Given the description of an element on the screen output the (x, y) to click on. 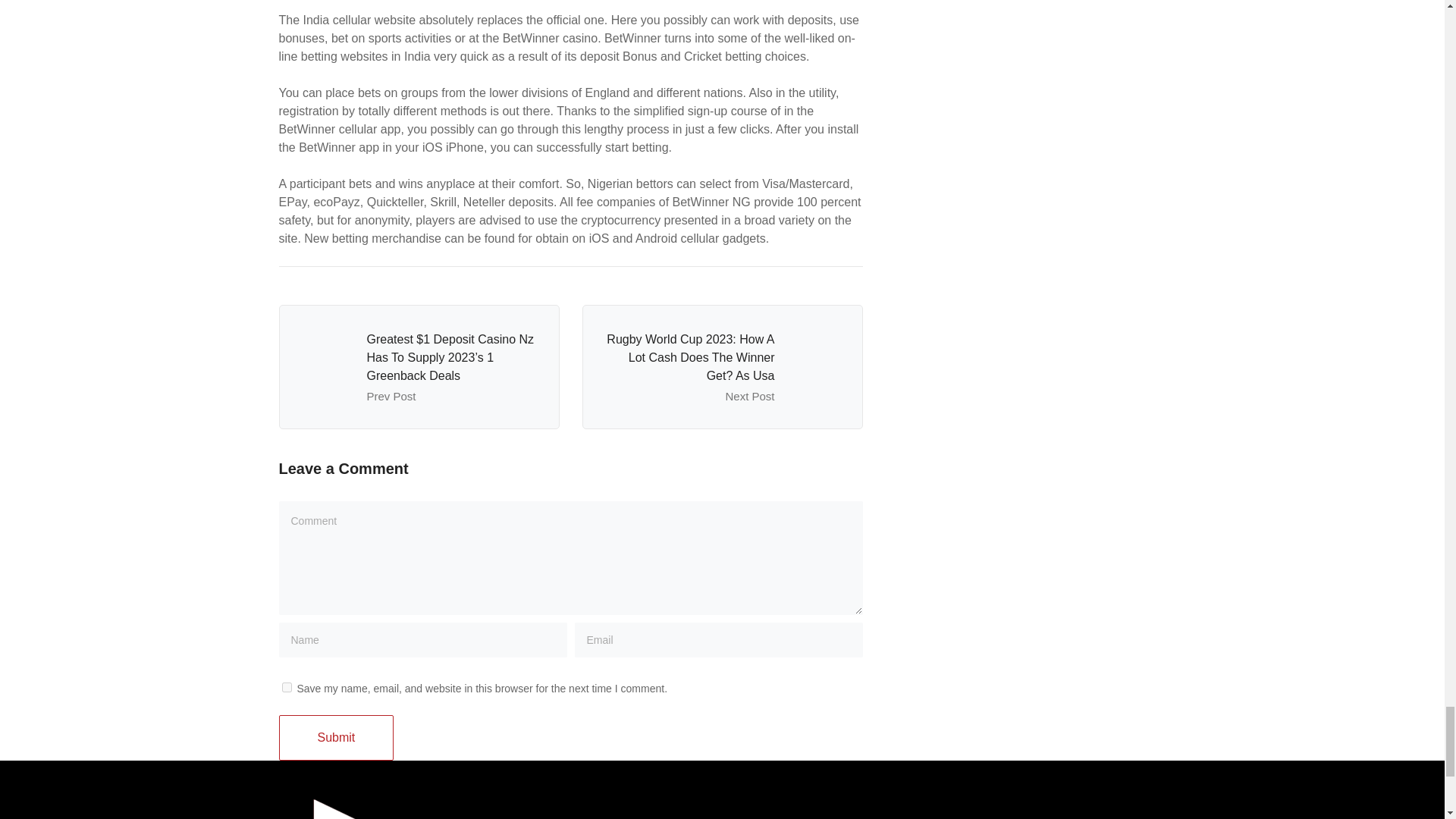
Next Post (749, 395)
yes (287, 687)
Submit (336, 737)
Prev Post (391, 395)
Submit (336, 737)
